Given the description of an element on the screen output the (x, y) to click on. 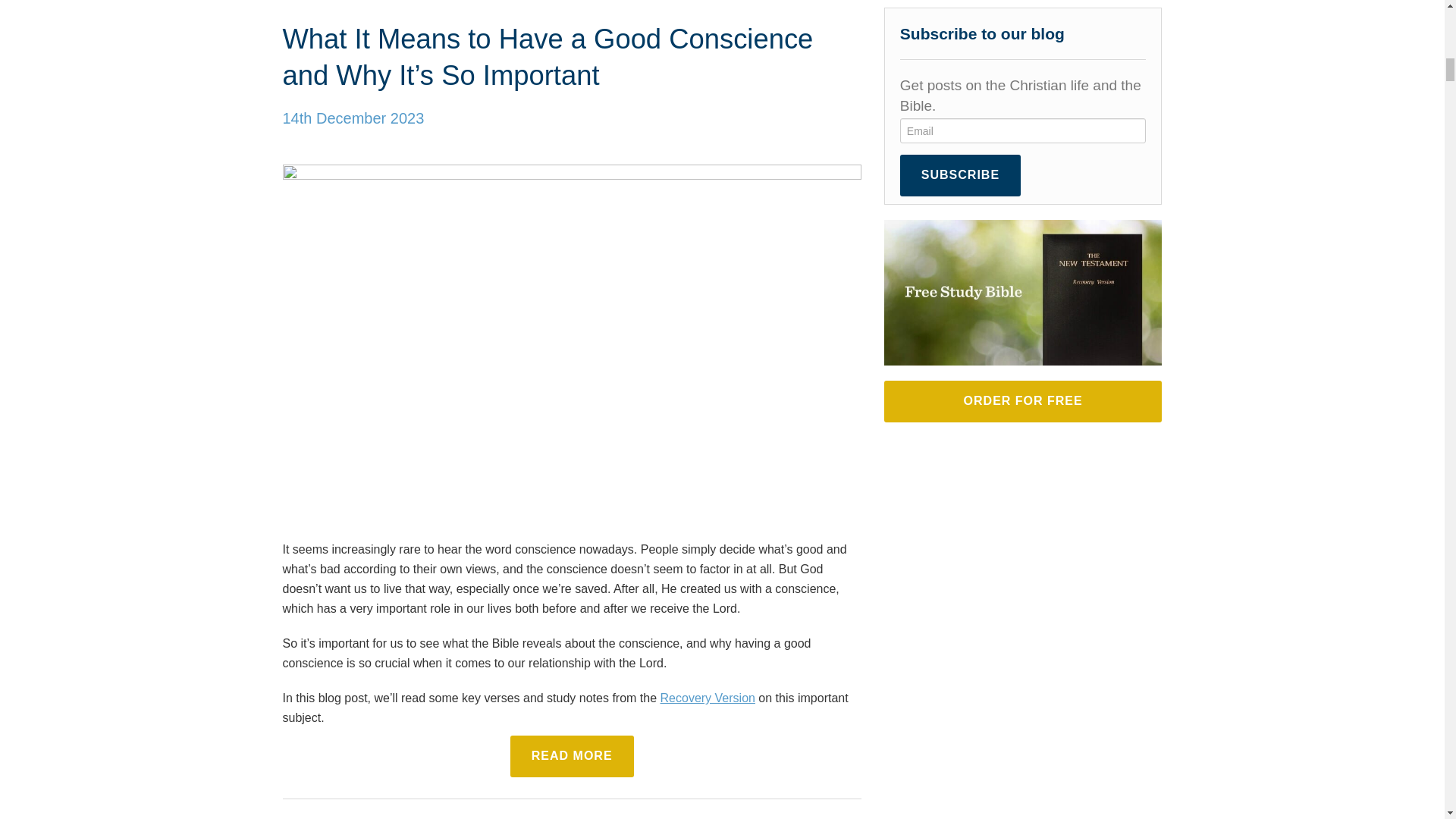
14th December 2023 (352, 117)
